Given the description of an element on the screen output the (x, y) to click on. 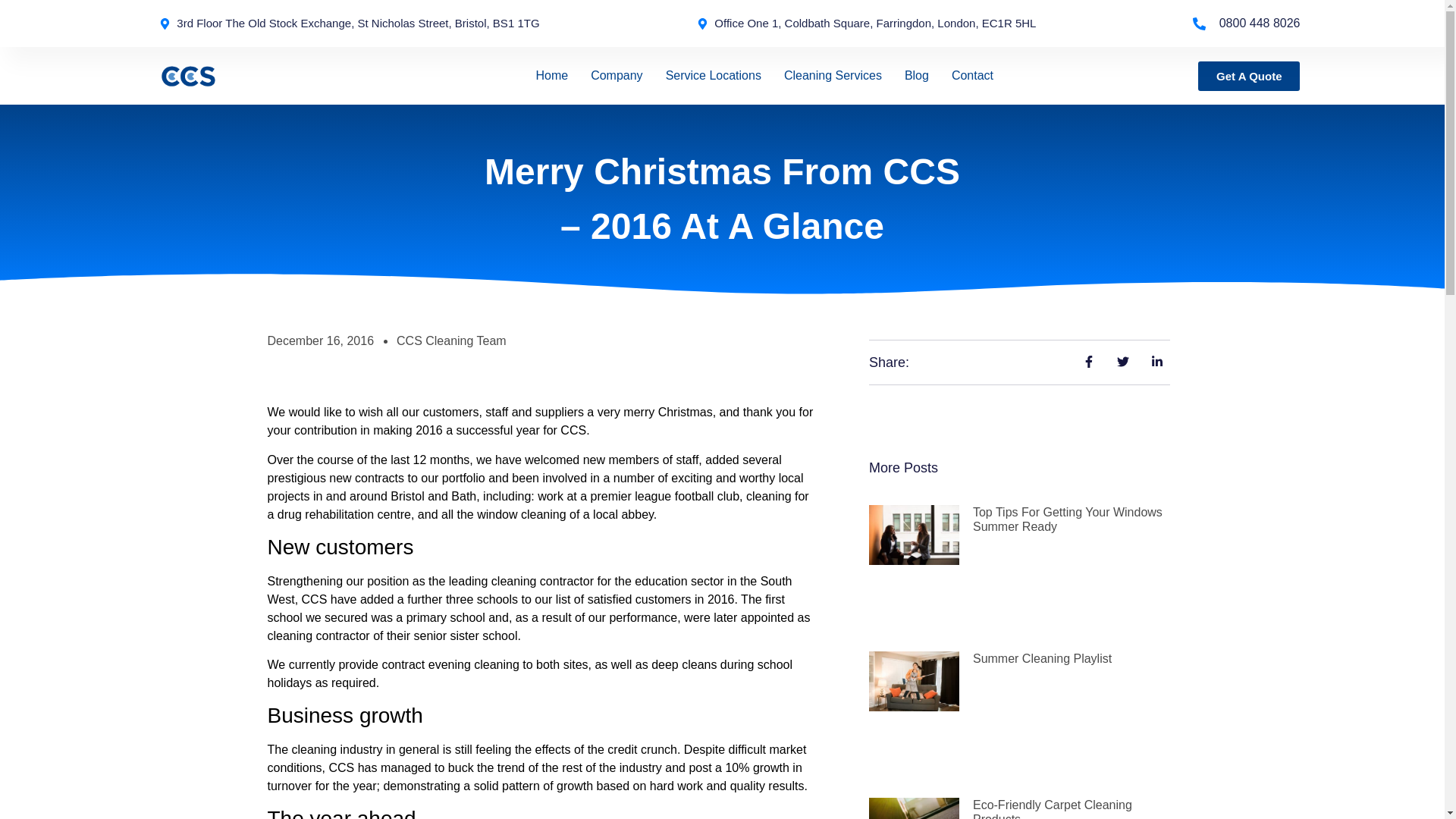
Office One 1, Coldbath Square, Farringdon, London, EC1R 5HL (866, 23)
Blog (916, 75)
Contact (972, 75)
0800 448 8026 (1246, 23)
Company (616, 75)
Home (551, 75)
Service Locations (713, 75)
Cleaning Services (833, 75)
